Given the description of an element on the screen output the (x, y) to click on. 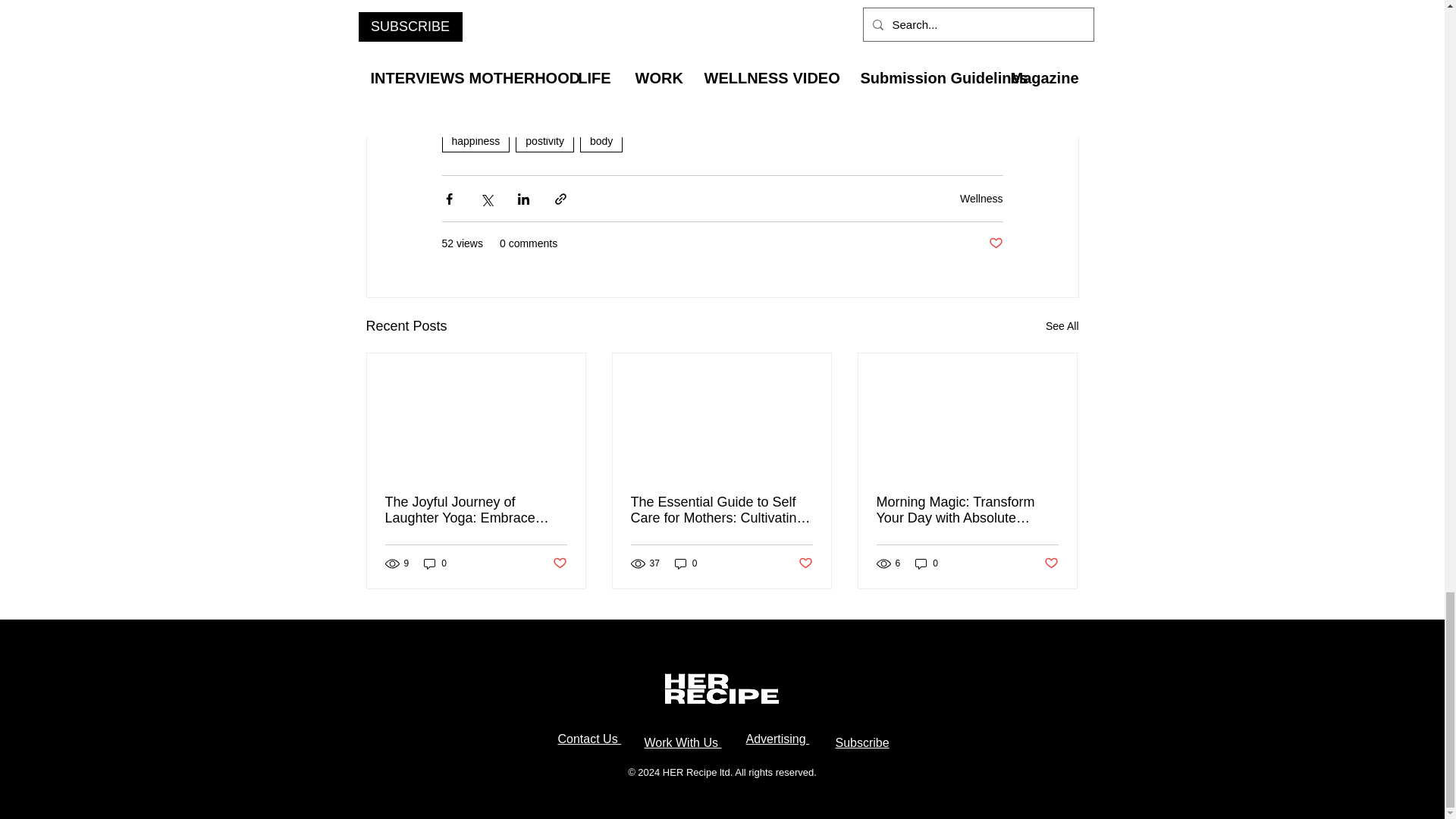
happiness (475, 140)
body (601, 140)
postivity (544, 140)
Wellness (981, 198)
